Given the description of an element on the screen output the (x, y) to click on. 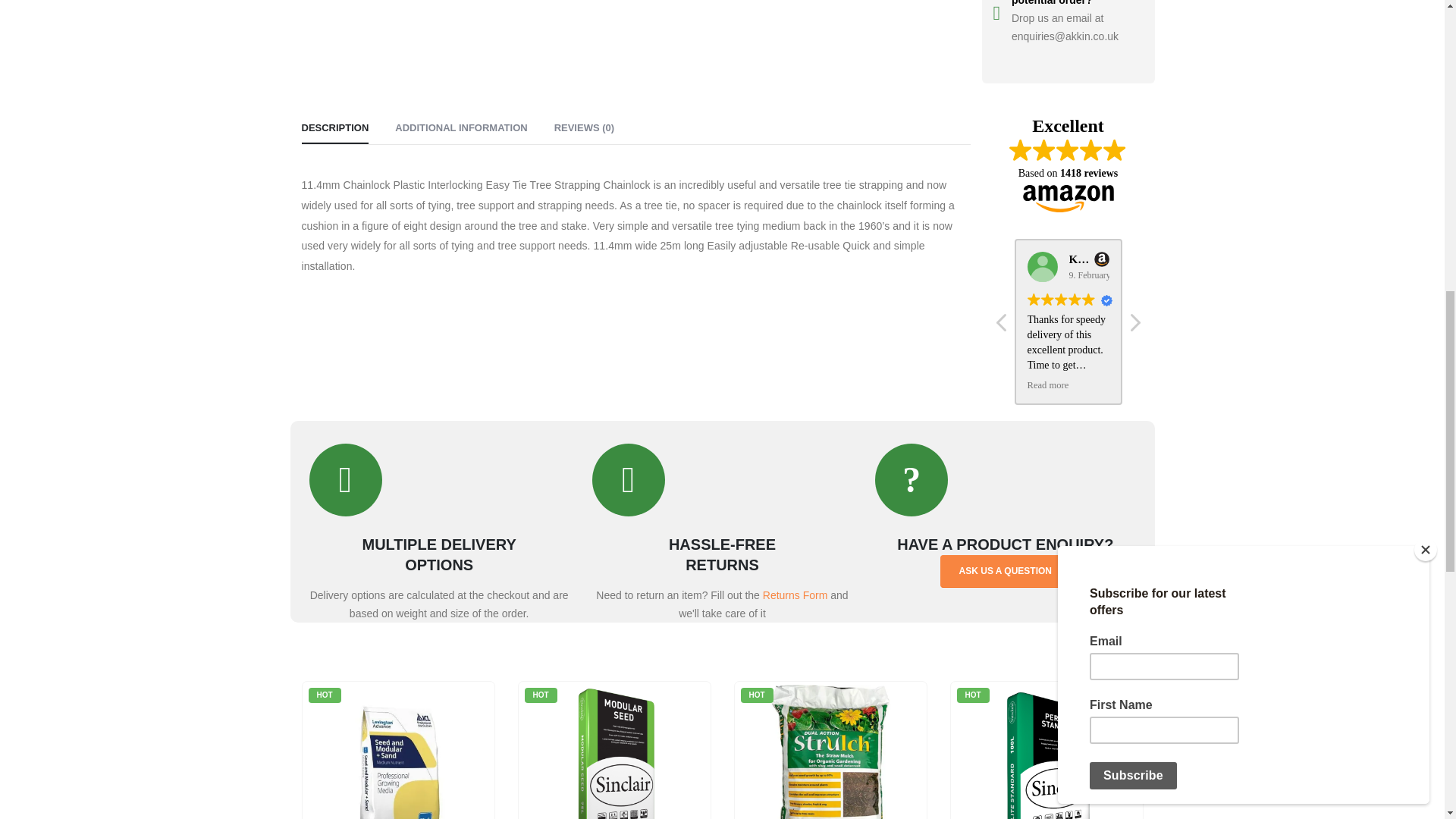
Returns (438, 479)
Returns (721, 479)
